Given the description of an element on the screen output the (x, y) to click on. 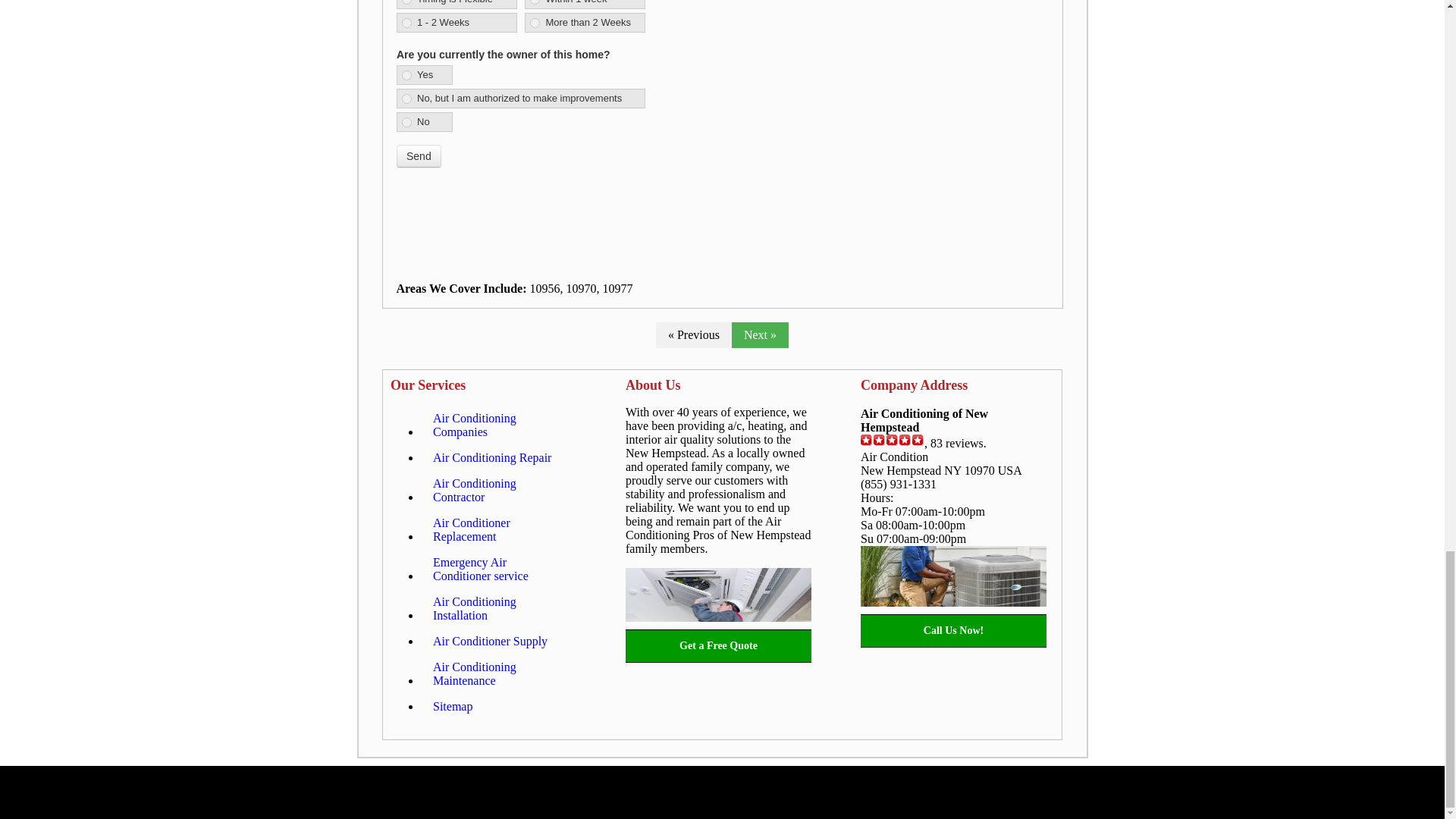
Call Us Now! (953, 630)
Air Conditioning Installation (498, 608)
Get a Free Quote (718, 645)
Emergency Air Conditioner service (498, 568)
Air Conditioning Maintenance (498, 673)
Air Conditioning Repair (491, 457)
Sitemap (452, 706)
Air Conditioning Contractor (498, 490)
Air Conditioning Companies (498, 425)
Air Conditioner Supply (489, 641)
Air Conditioner Replacement (498, 529)
